Given the description of an element on the screen output the (x, y) to click on. 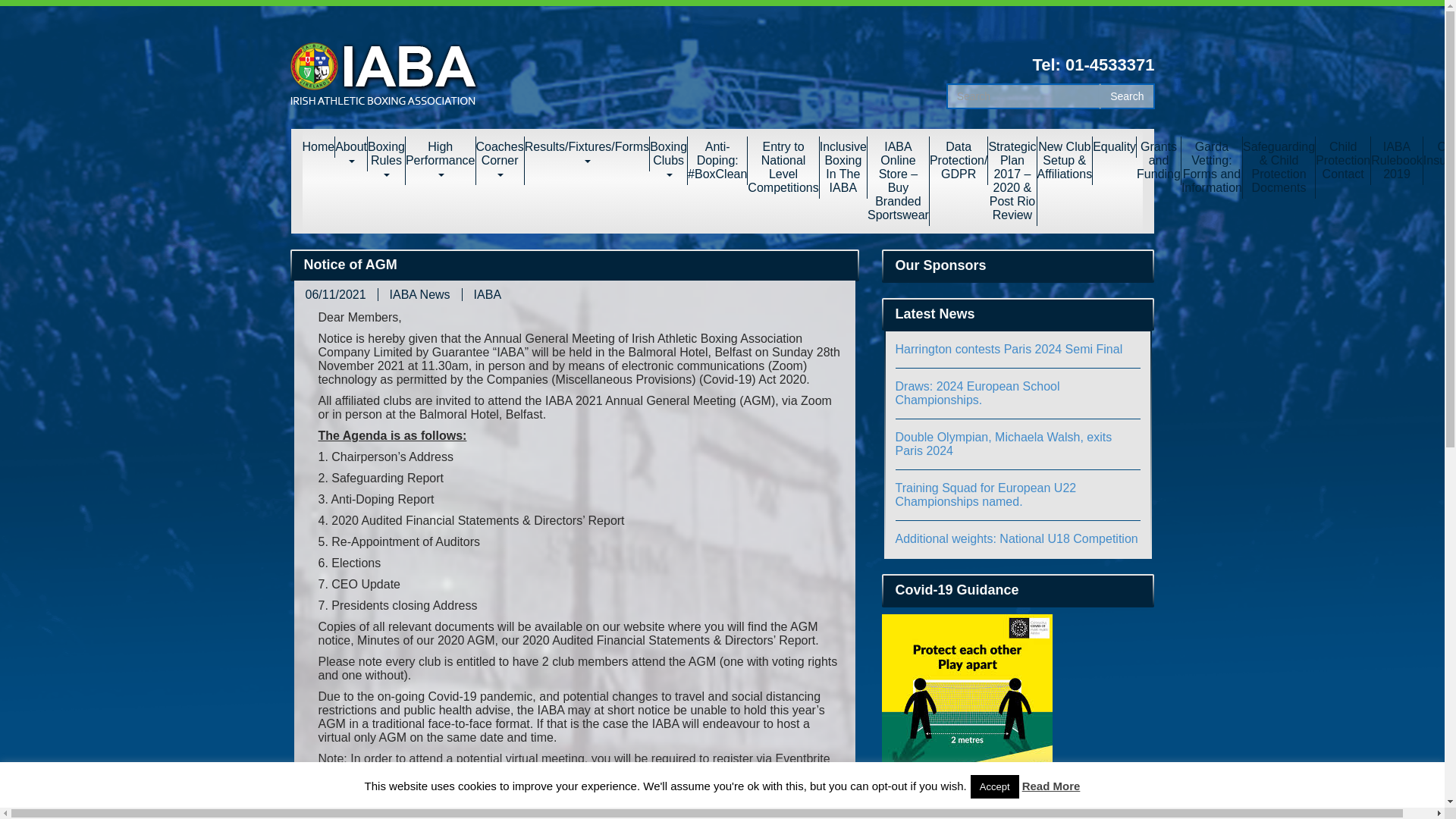
Search (1127, 95)
Search (1127, 95)
Coaches Corner (500, 160)
High Performance (441, 160)
Home (317, 147)
About (351, 153)
About (351, 153)
Search (1127, 95)
Search for: (1023, 95)
Home (317, 147)
